Given the description of an element on the screen output the (x, y) to click on. 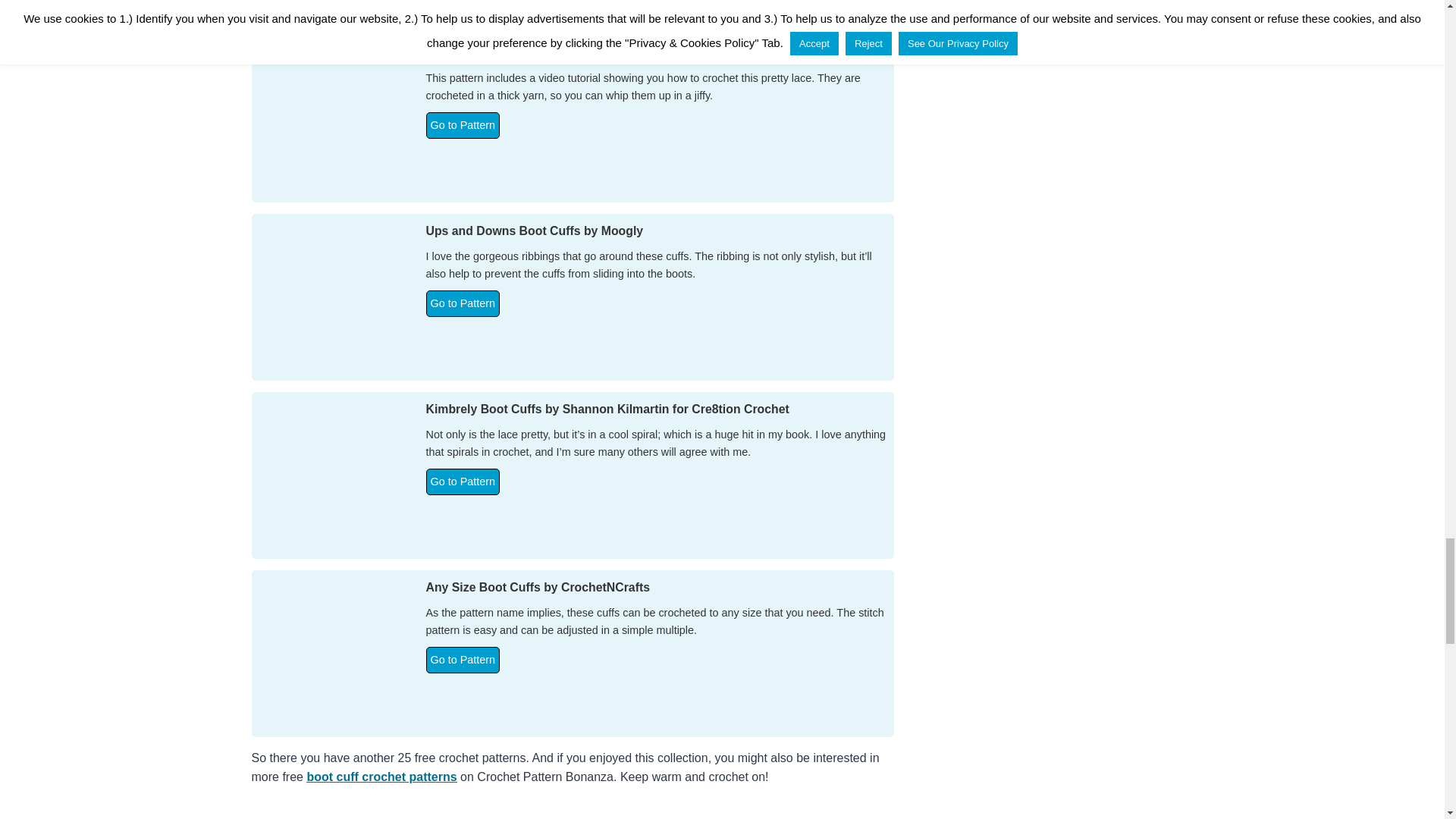
Go to Pattern (463, 125)
Go to Pattern (463, 660)
boot cuff crochet patterns (381, 776)
Go to Pattern (463, 481)
Go to Pattern (463, 303)
